Given the description of an element on the screen output the (x, y) to click on. 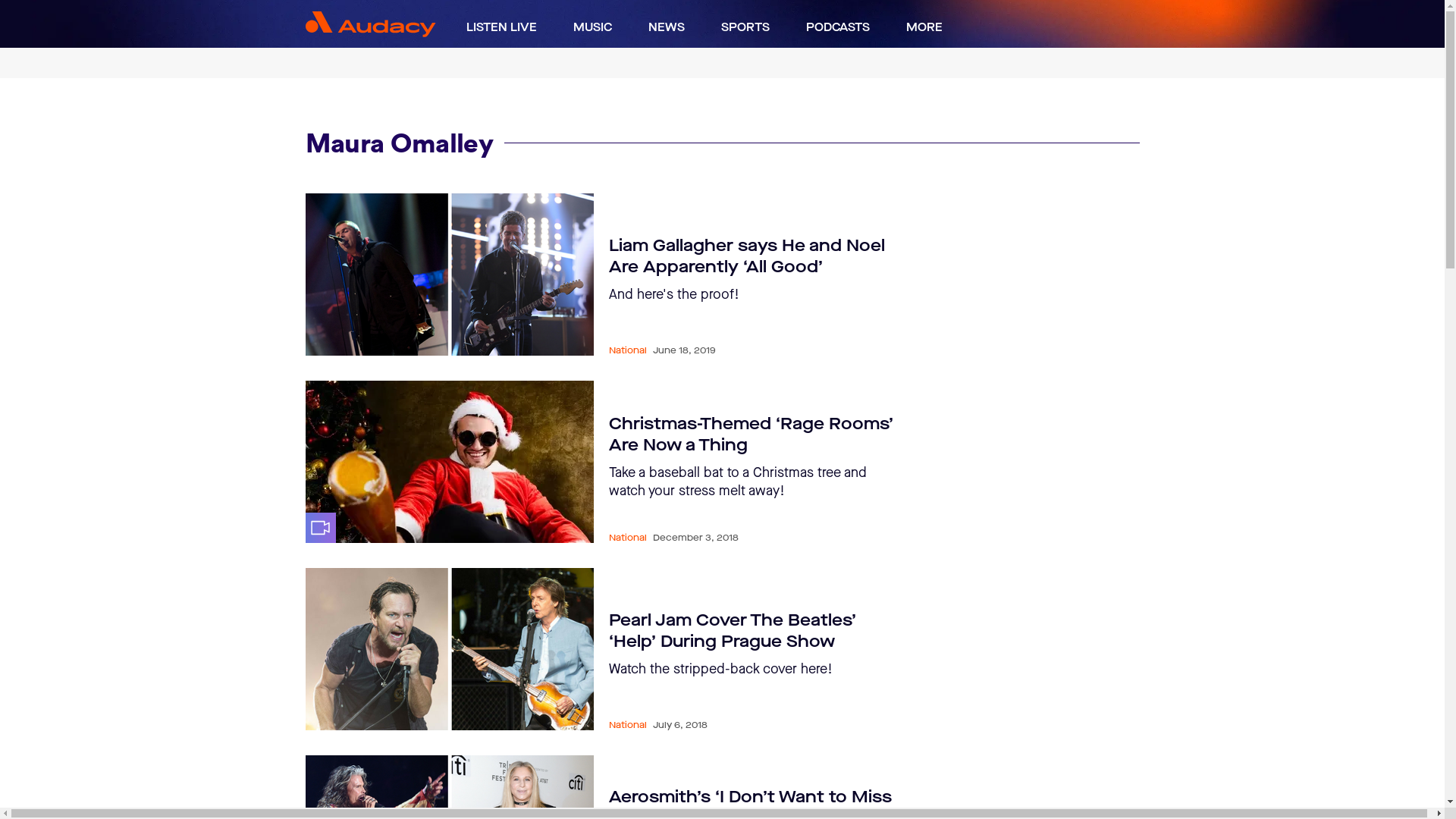
NEWS Element type: text (665, 26)
MORE Element type: text (923, 26)
Audacy Logo Element type: text (369, 23)
SPORTS Element type: text (744, 26)
LISTEN LIVE Element type: text (500, 26)
PODCASTS Element type: text (837, 26)
MUSIC Element type: text (592, 26)
